Given the description of an element on the screen output the (x, y) to click on. 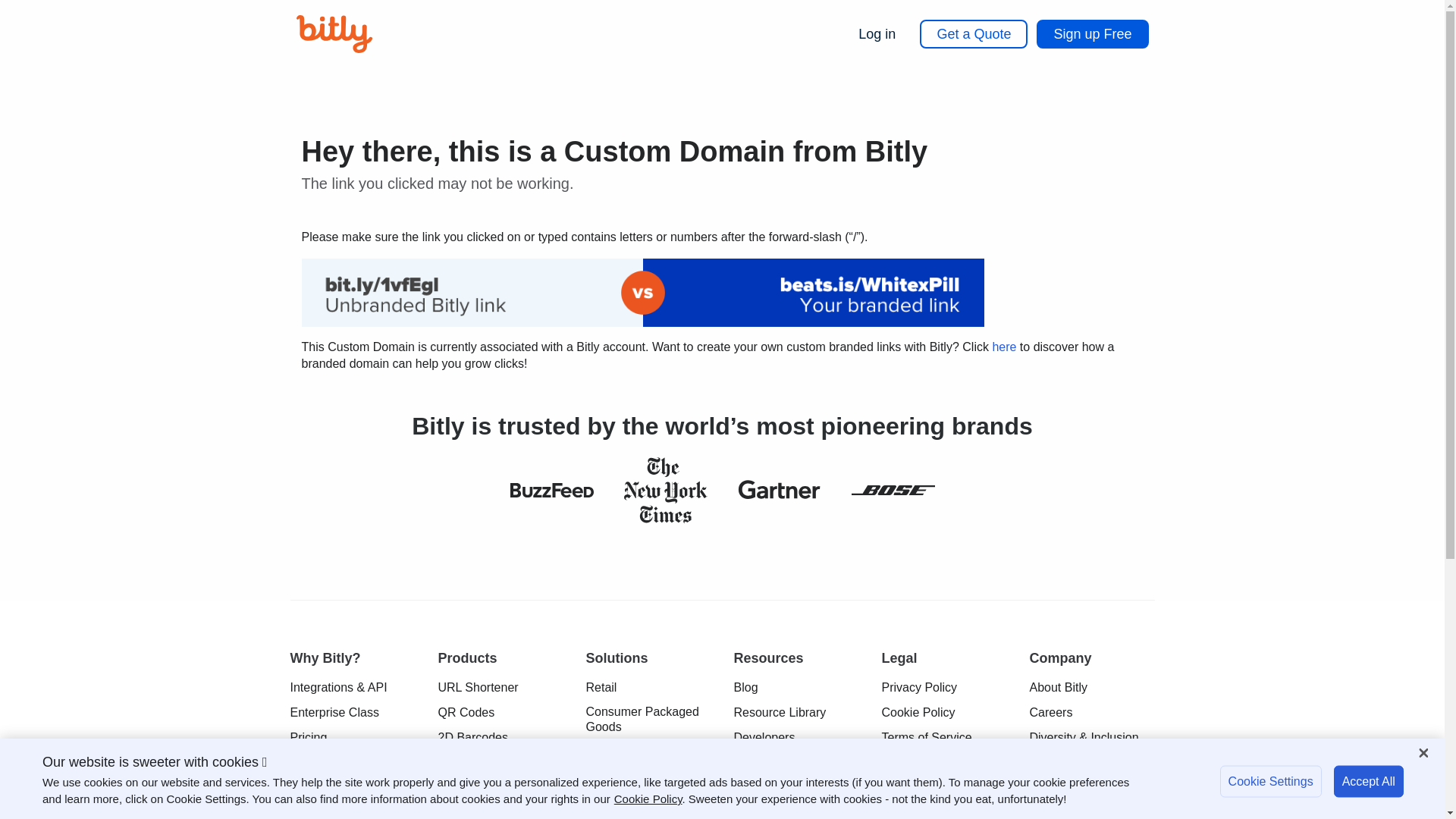
Pricing (307, 737)
here (1003, 346)
Log in (877, 33)
Sign up Free (1092, 33)
Get a Quote (973, 33)
Enterprise Class (333, 712)
